Given the description of an element on the screen output the (x, y) to click on. 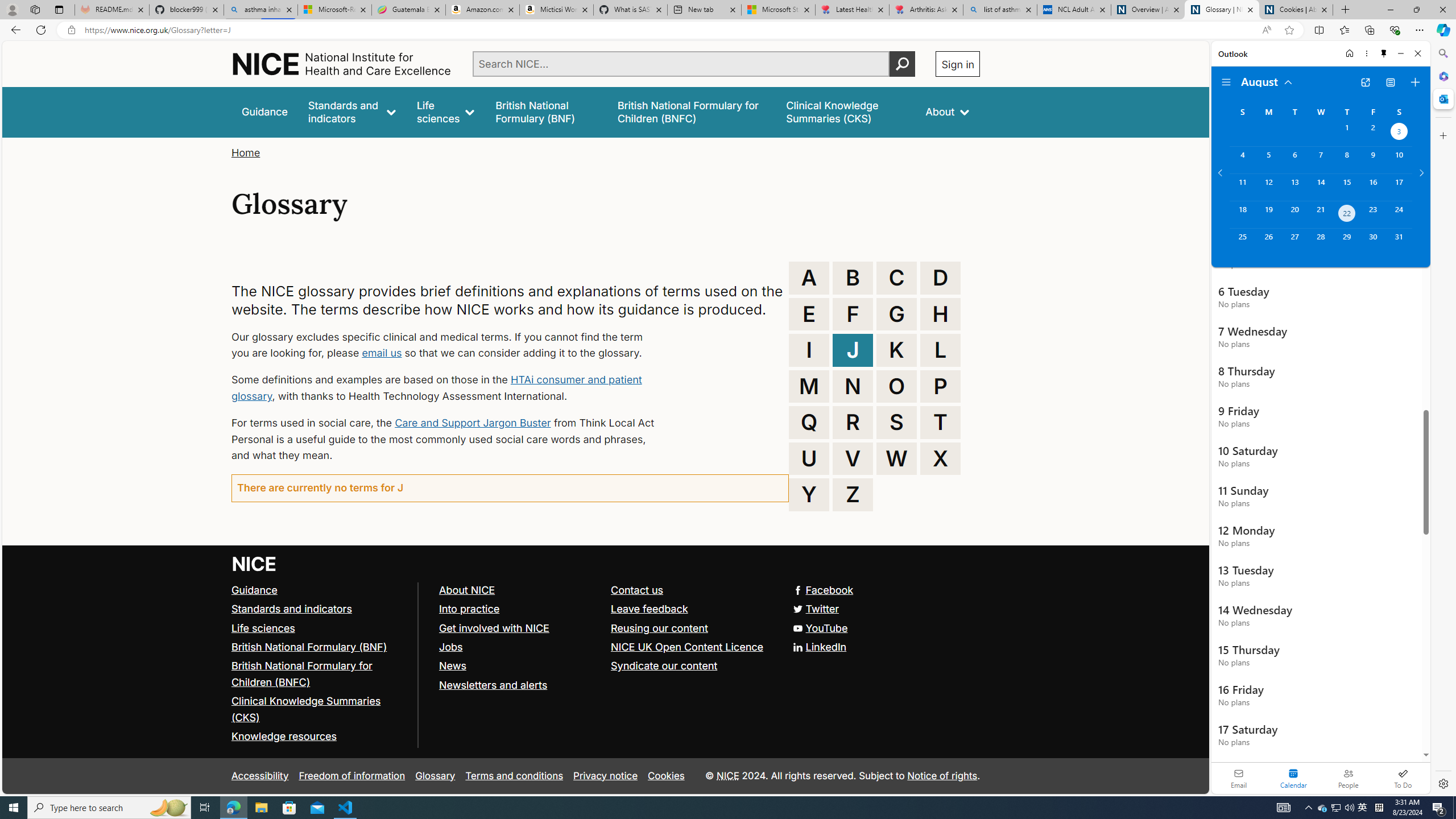
P (940, 385)
Open in new tab (1365, 82)
R (852, 422)
August (1267, 80)
Friday, August 16, 2024.  (1372, 186)
F (852, 313)
H (940, 313)
Terms and conditions (514, 775)
Sunday, August 11, 2024.  (1242, 186)
N (852, 385)
Facebook (605, 589)
